Given the description of an element on the screen output the (x, y) to click on. 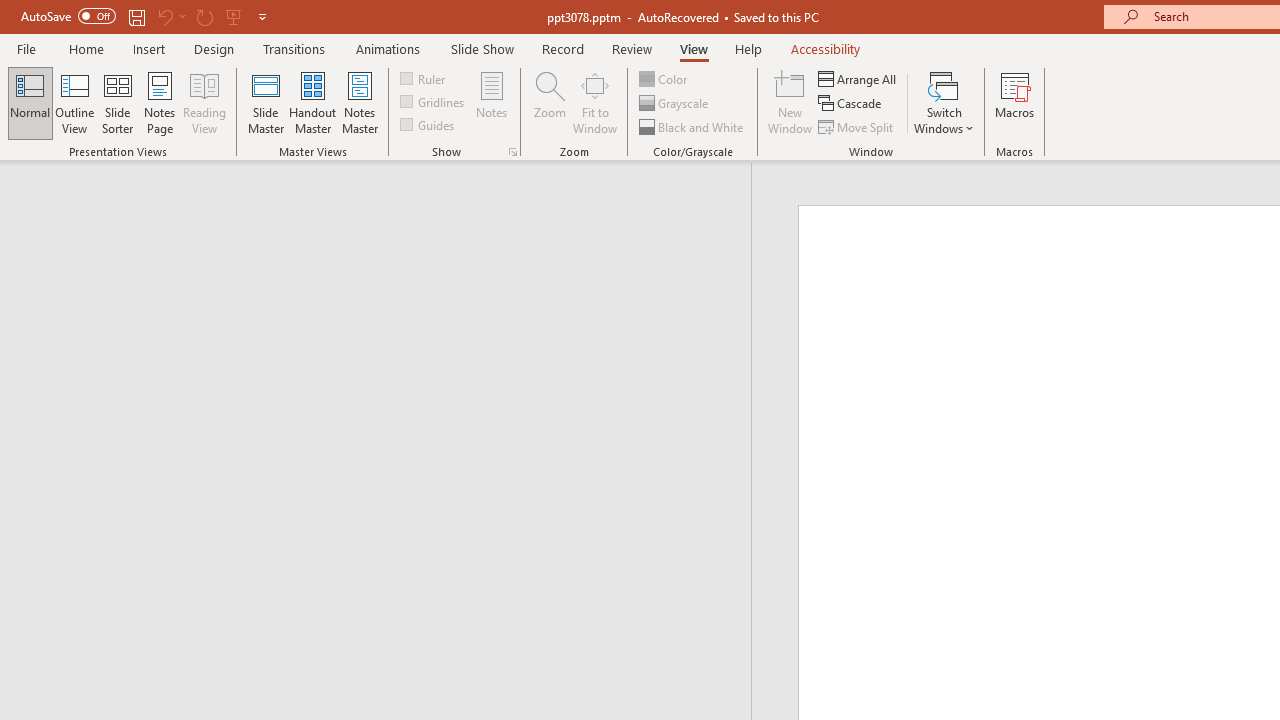
Switch Windows (943, 102)
Fit to Window (594, 102)
Ruler (423, 78)
Notes (492, 102)
Arrange All (858, 78)
Black and White (693, 126)
Macros (1014, 102)
Notes Master (360, 102)
Guides (428, 124)
